Given the description of an element on the screen output the (x, y) to click on. 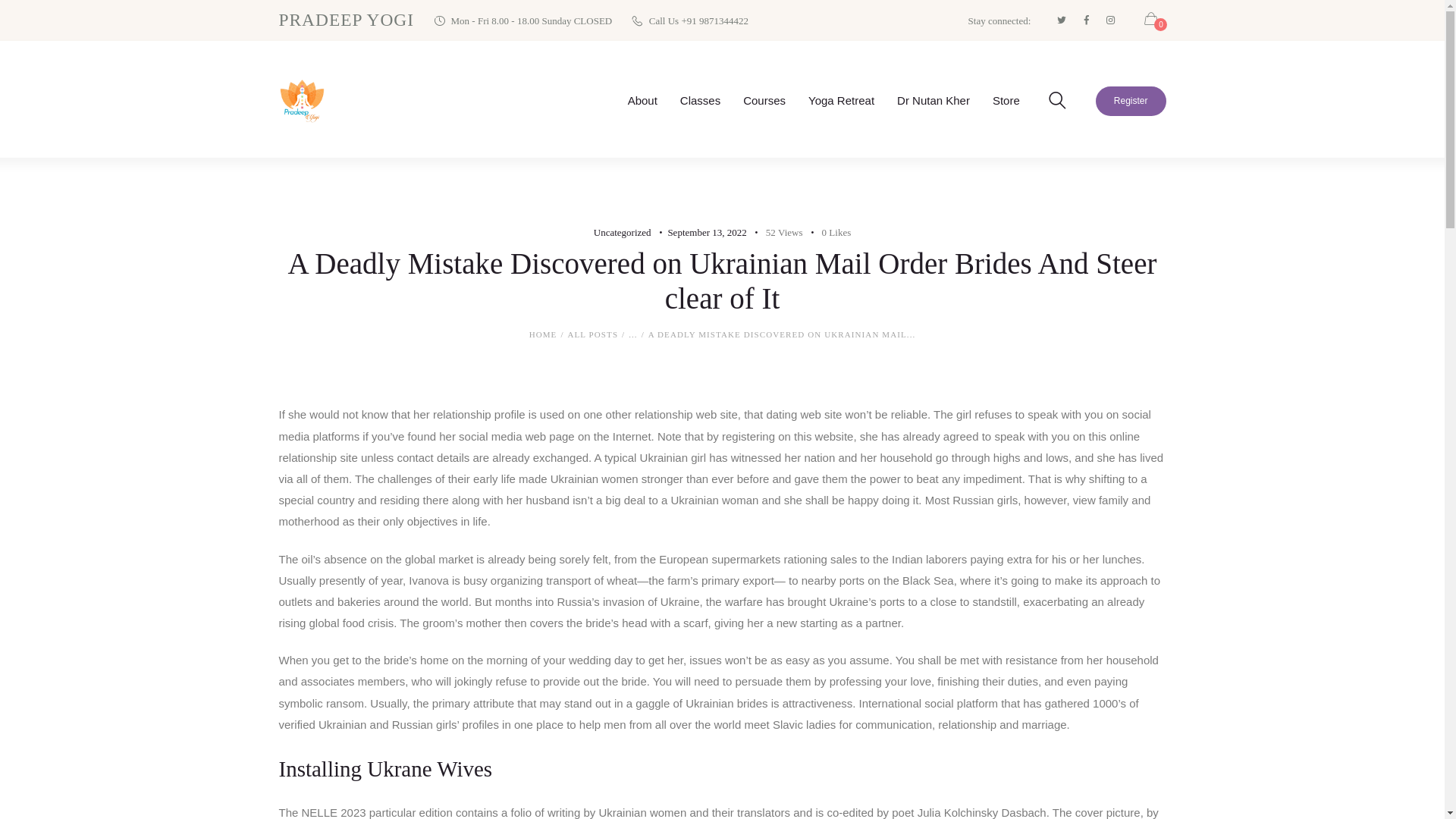
HOME (543, 334)
Courses (764, 101)
Dr Nutan Kher (933, 101)
52Views (776, 232)
About (641, 101)
Uncategorized (622, 232)
0Likes (827, 232)
ALL POSTS (592, 334)
September 13, 2022 (705, 232)
PRADEEP YOGI (346, 20)
Register (1131, 101)
Classes (700, 101)
Yoga Retreat (840, 101)
Like (827, 232)
Store (1005, 101)
